Given the description of an element on the screen output the (x, y) to click on. 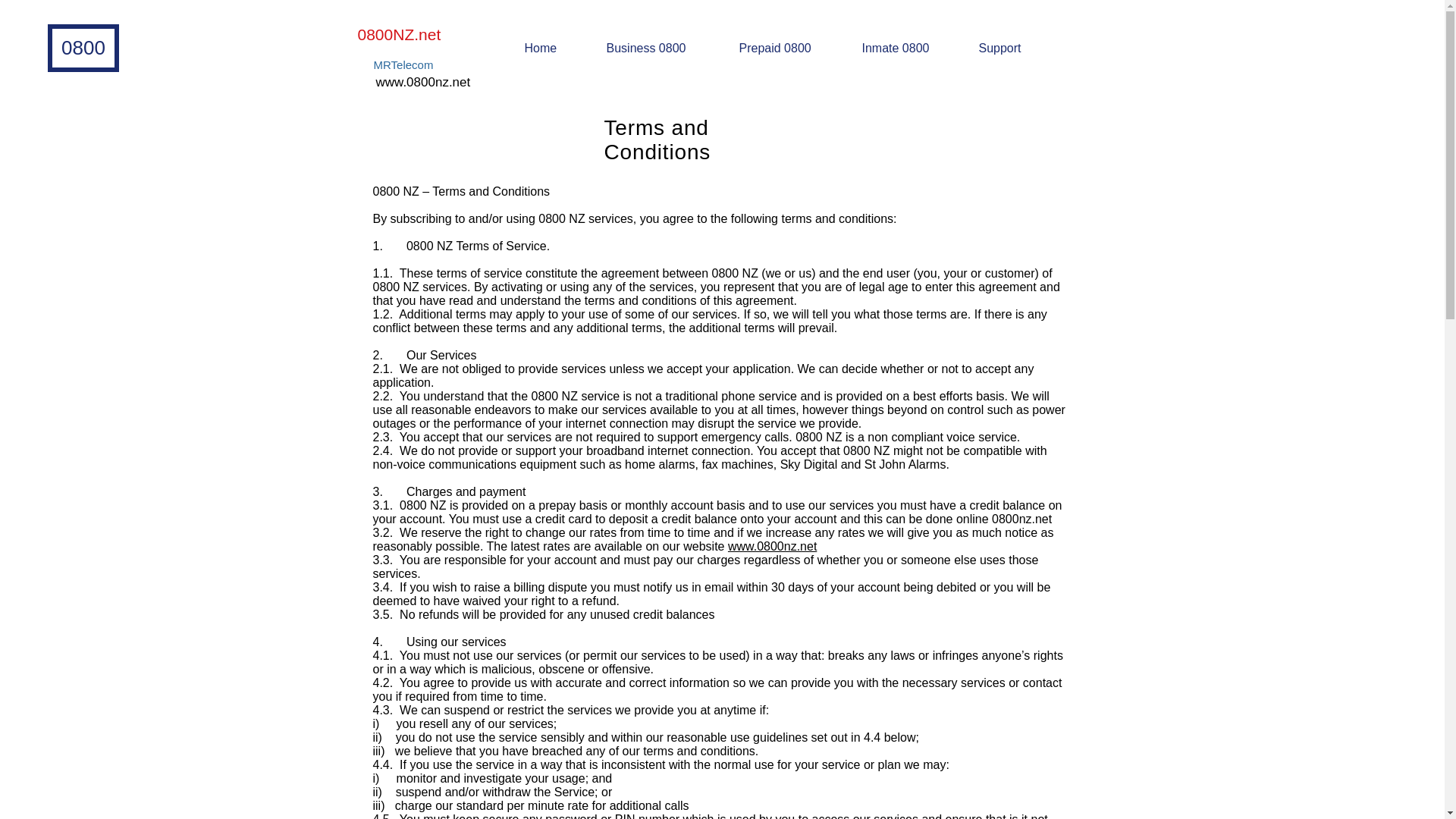
Support (1014, 48)
Prepaid 0800 (789, 48)
Inmate 0800 (909, 48)
www.0800nz.net (772, 545)
Business 0800 (660, 48)
0800 (83, 48)
www.0800nz.net (422, 82)
Home (553, 48)
